Given the description of an element on the screen output the (x, y) to click on. 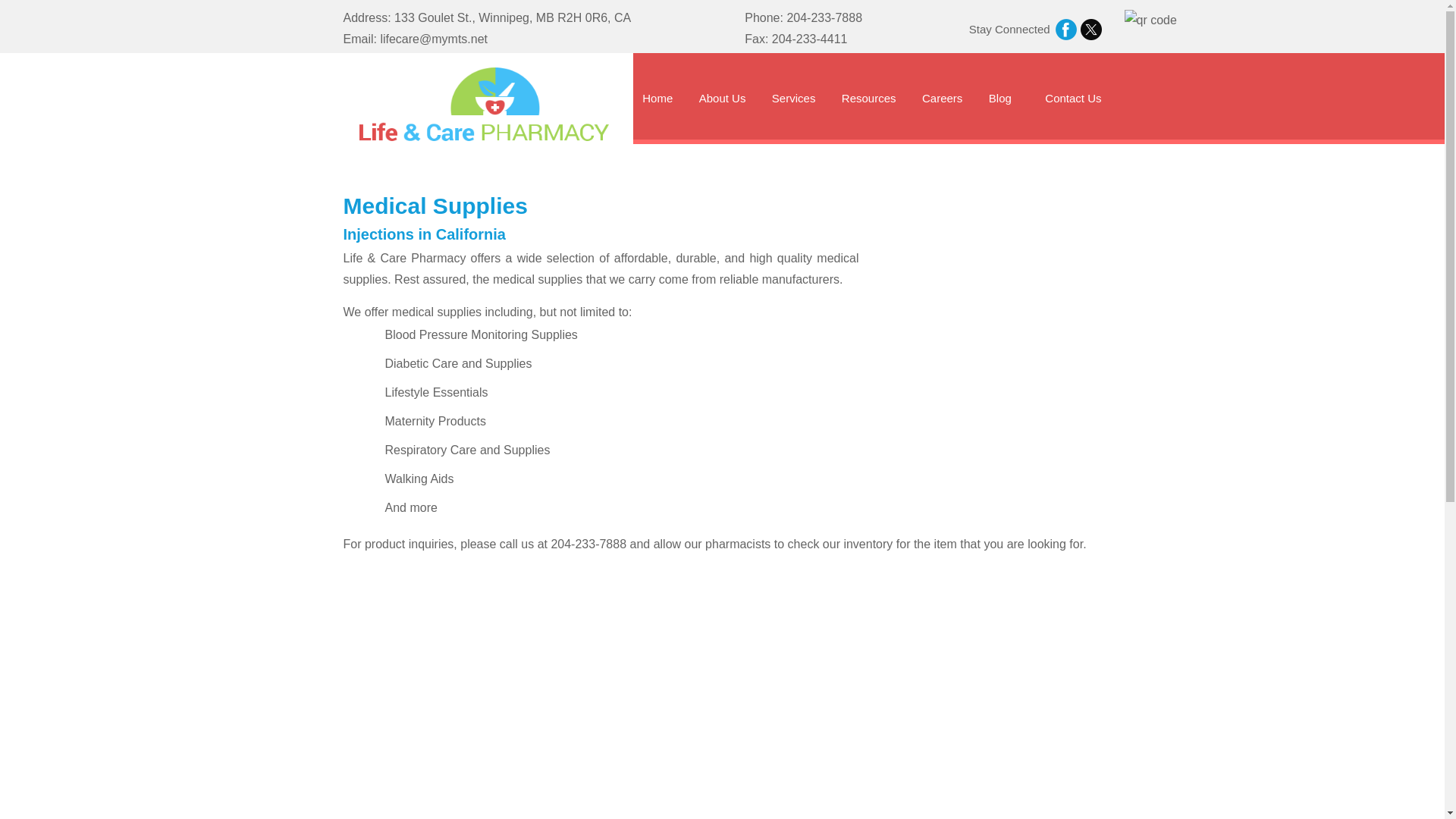
204-233-4411 (809, 38)
Careers (941, 96)
204-233-7888 (823, 17)
Blog (999, 96)
Home (657, 96)
Contact Us (1072, 96)
About Us (721, 96)
Resources (868, 96)
Services (793, 96)
